Given the description of an element on the screen output the (x, y) to click on. 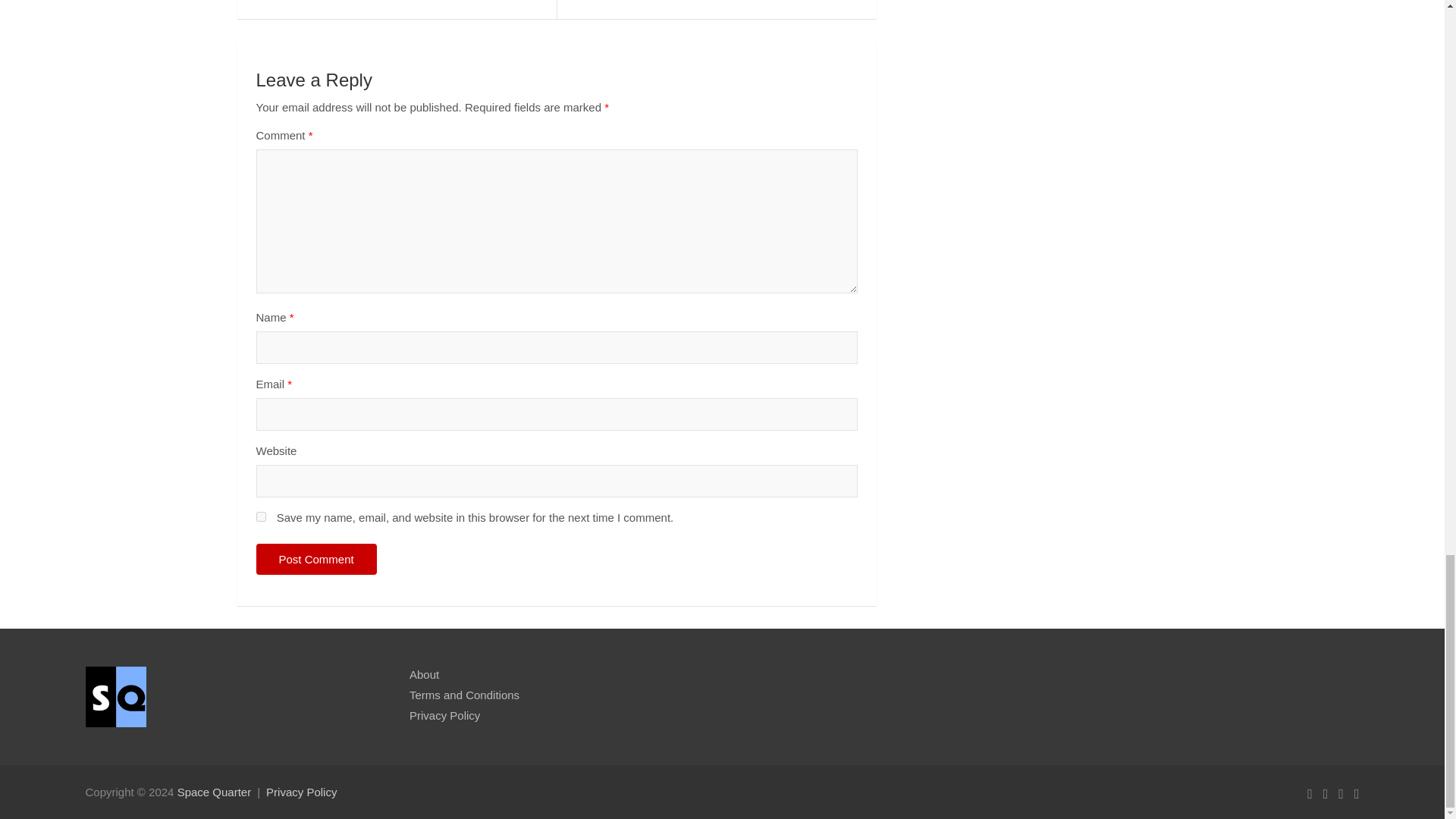
Space Quarter (214, 791)
yes (261, 516)
Post Comment (316, 558)
Post Comment (316, 558)
